Given the description of an element on the screen output the (x, y) to click on. 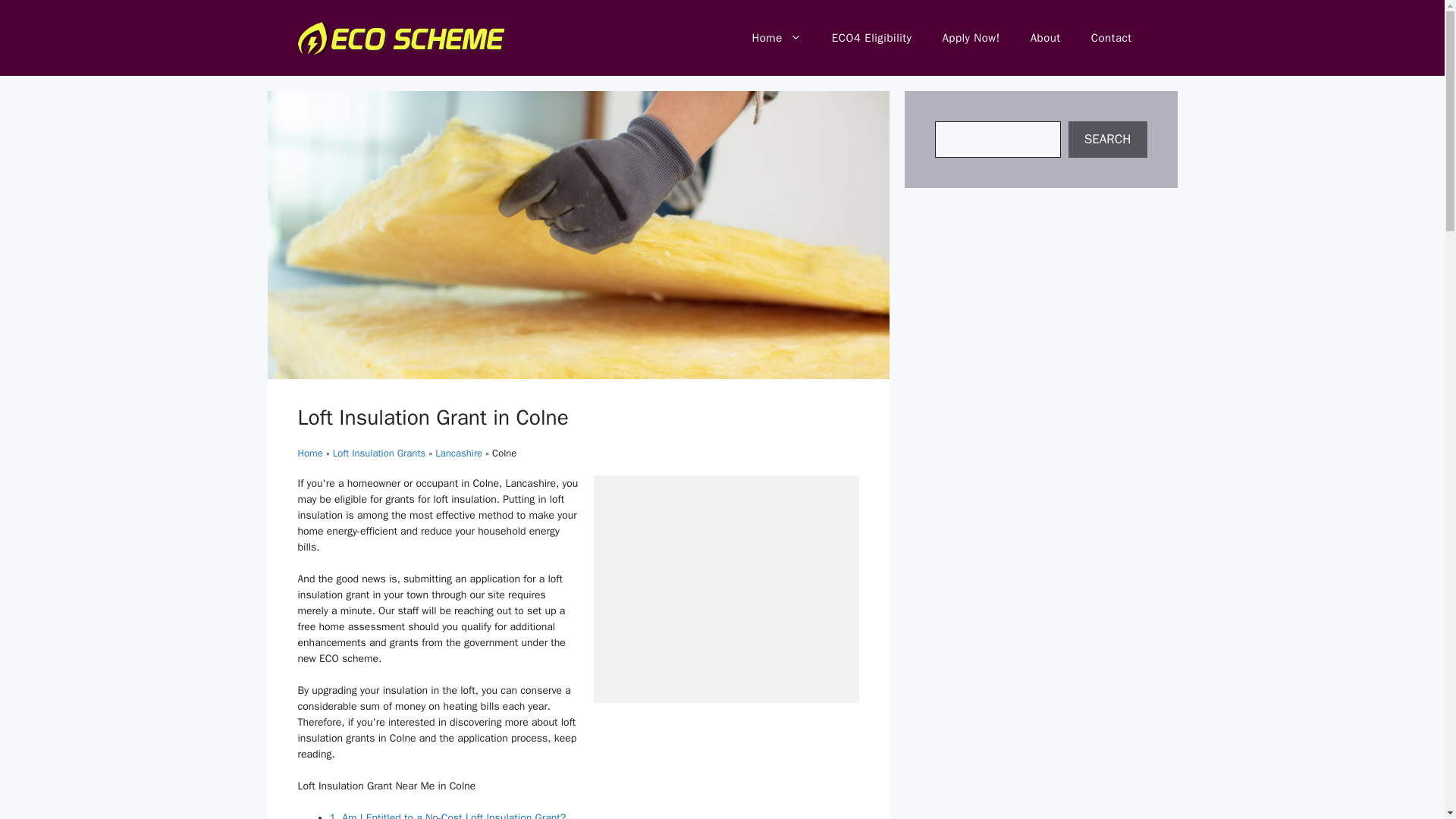
Contact (1111, 37)
SEARCH (1107, 139)
Home (309, 452)
ECO4 Eligibility (871, 37)
1. Am I Entitled to a No-Cost Loft Insulation Grant? (447, 815)
About (1044, 37)
Lancashire (458, 452)
Apply Now! (970, 37)
Loft Insulation Grants (379, 452)
Home (775, 37)
